Given the description of an element on the screen output the (x, y) to click on. 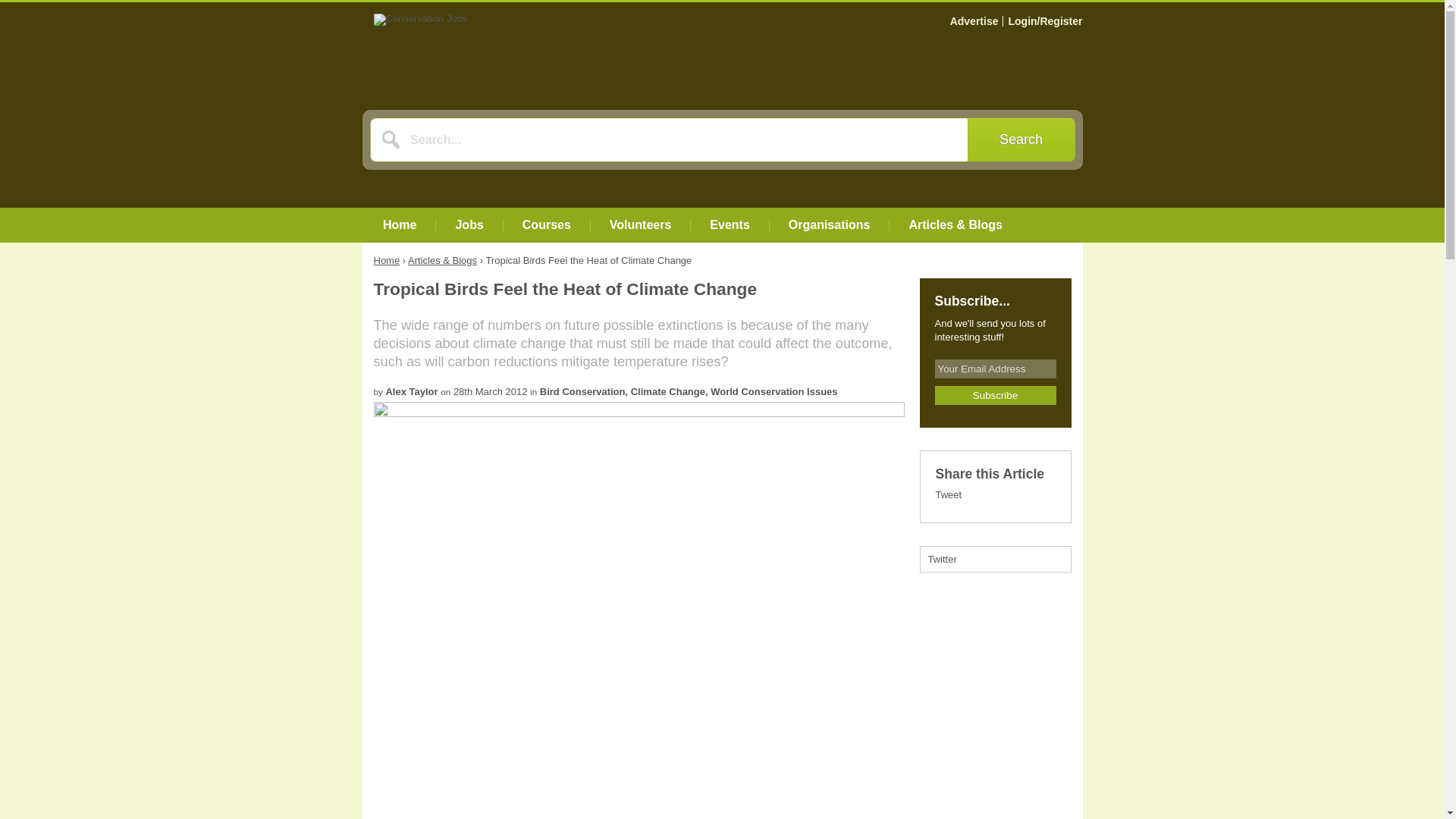
Bird Conservation (583, 391)
Events (729, 224)
Search CJ (1021, 139)
Climate Change (667, 391)
Subscribe (994, 394)
Tweet (949, 494)
Conservation Jobs (506, 43)
Advertise (974, 21)
Volunteers (640, 224)
Jobs (468, 224)
